Given the description of an element on the screen output the (x, y) to click on. 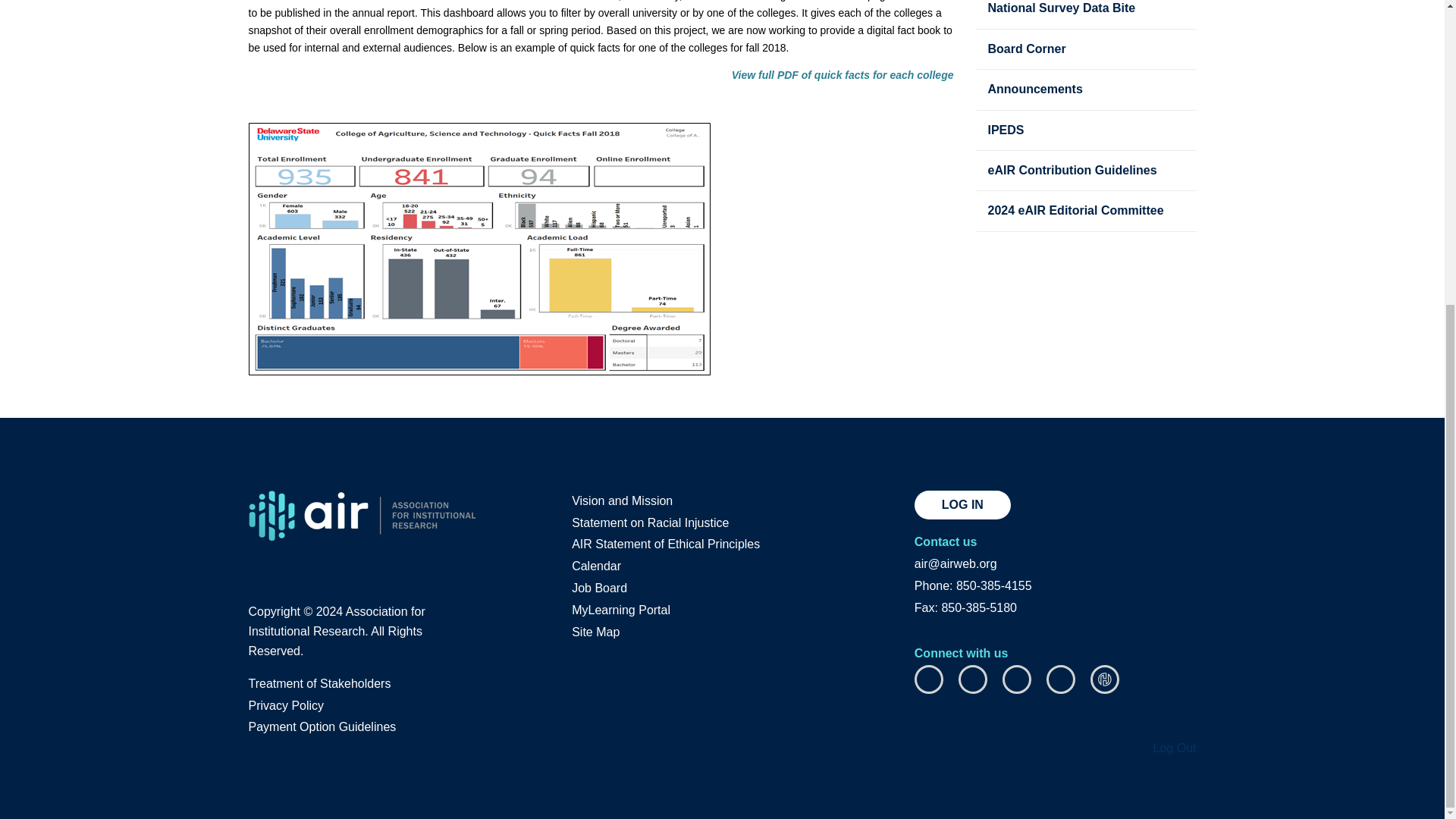
Association for Institutional Research (362, 515)
View full PDF of quick facts for each college (842, 74)
VDDMay20202 (479, 248)
